Given the description of an element on the screen output the (x, y) to click on. 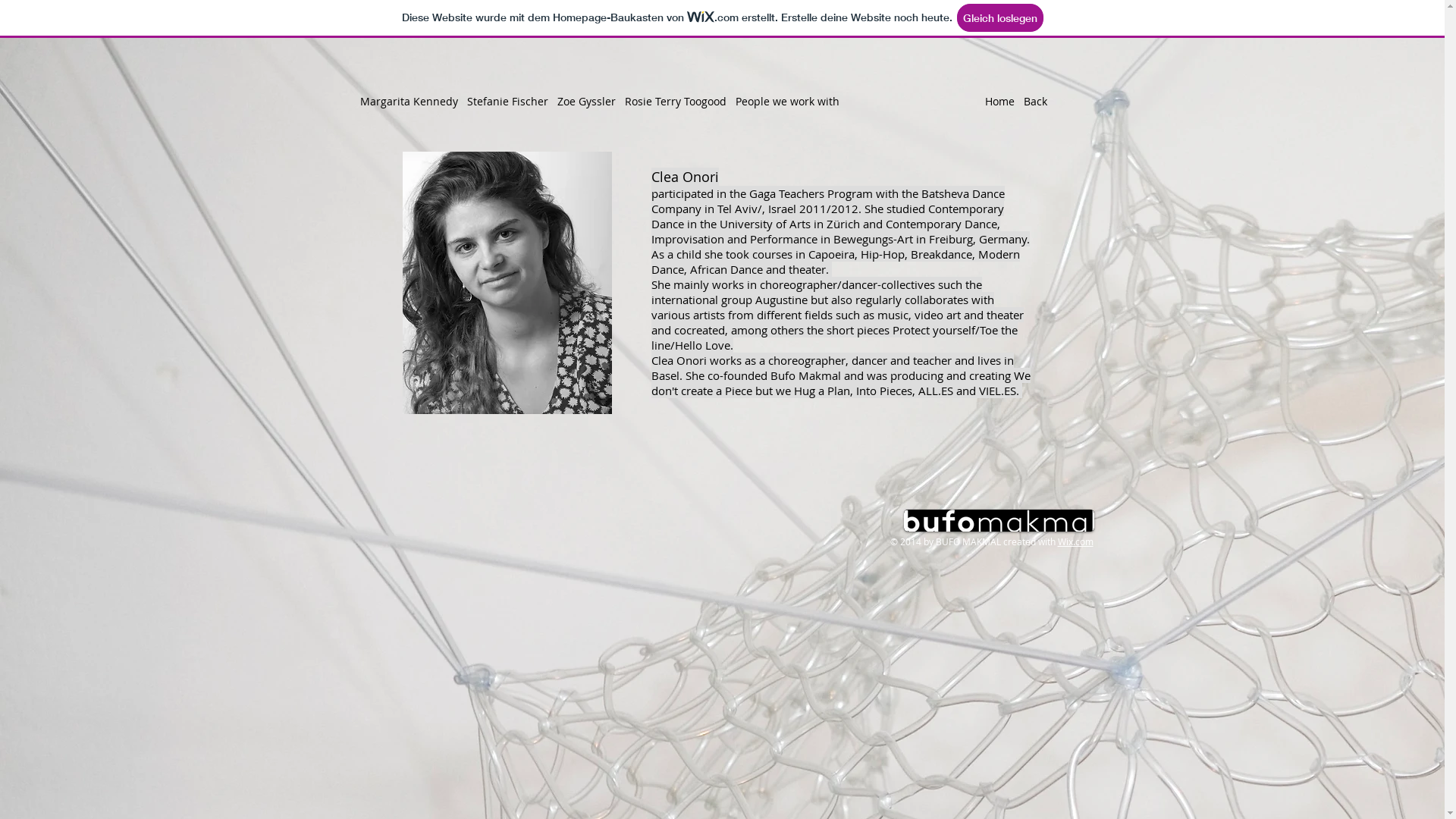
B Element type: text (1026, 101)
Home    Element type: text (1003, 101)
Rosie Terry Toogood    Element type: text (679, 101)
People we work with Element type: text (787, 101)
Margarita Kennedy    Element type: text (412, 101)
logo_bufo_makmal_weiss_web.png Element type: hover (998, 520)
Zoe Gyssler    Element type: text (590, 101)
Stefanie Fischer    Element type: text (512, 101)
ack Element type: text (1037, 101)
Wix.com Element type: text (1074, 541)
